Given the description of an element on the screen output the (x, y) to click on. 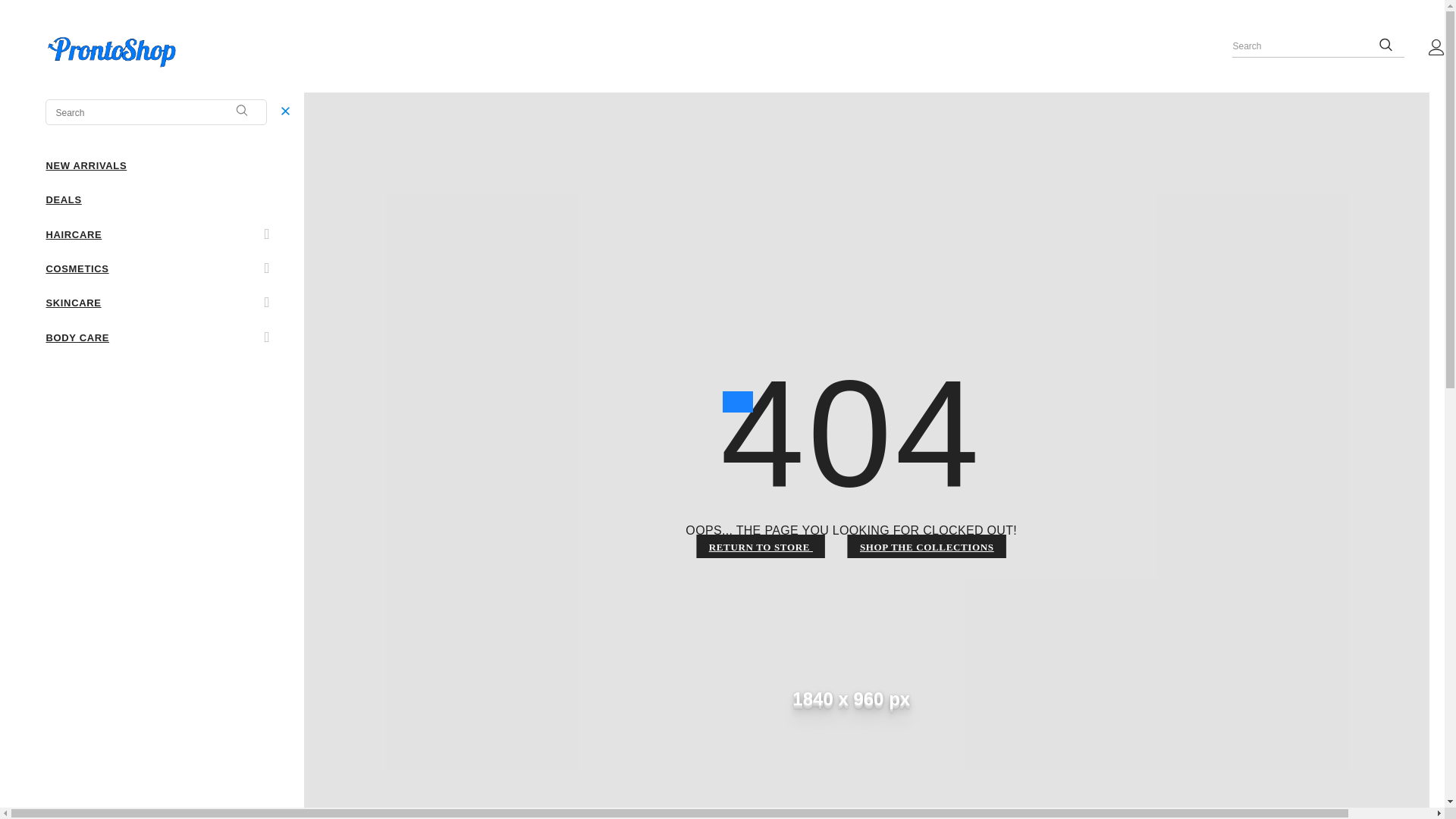
COSMETICS (76, 267)
SKINCARE (72, 302)
HAIRCARE (73, 233)
NEW ARRIVALS (85, 164)
RETURN TO STORE (761, 545)
BODY CARE (77, 336)
User Icon (1436, 47)
Twitter (77, 422)
Instagram (103, 422)
SHOP THE COLLECTIONS (926, 545)
Facebook (54, 422)
Logo (173, 53)
DEALS (63, 198)
